Given the description of an element on the screen output the (x, y) to click on. 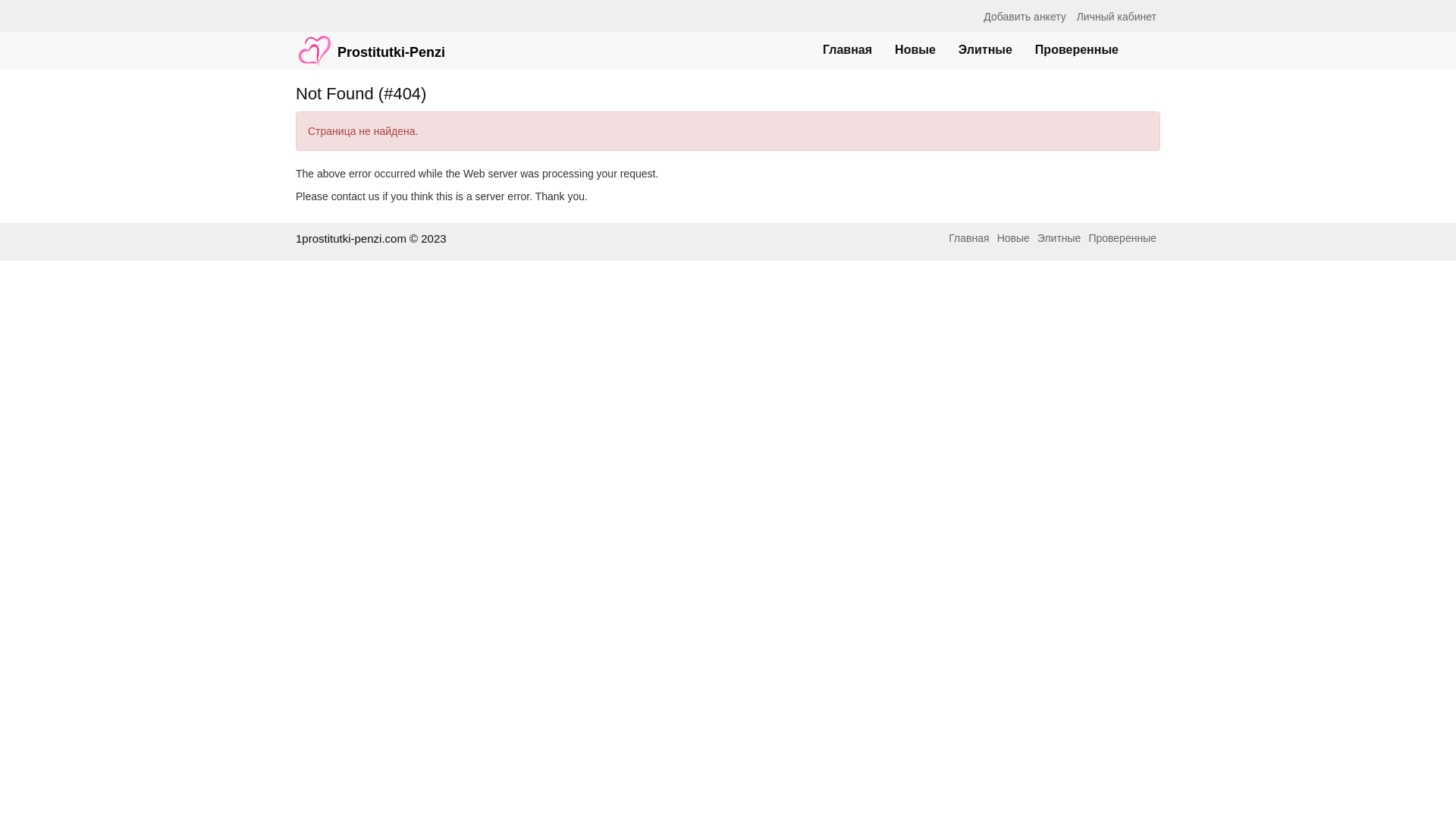
Prostitutki-Penzi Element type: text (370, 43)
